Given the description of an element on the screen output the (x, y) to click on. 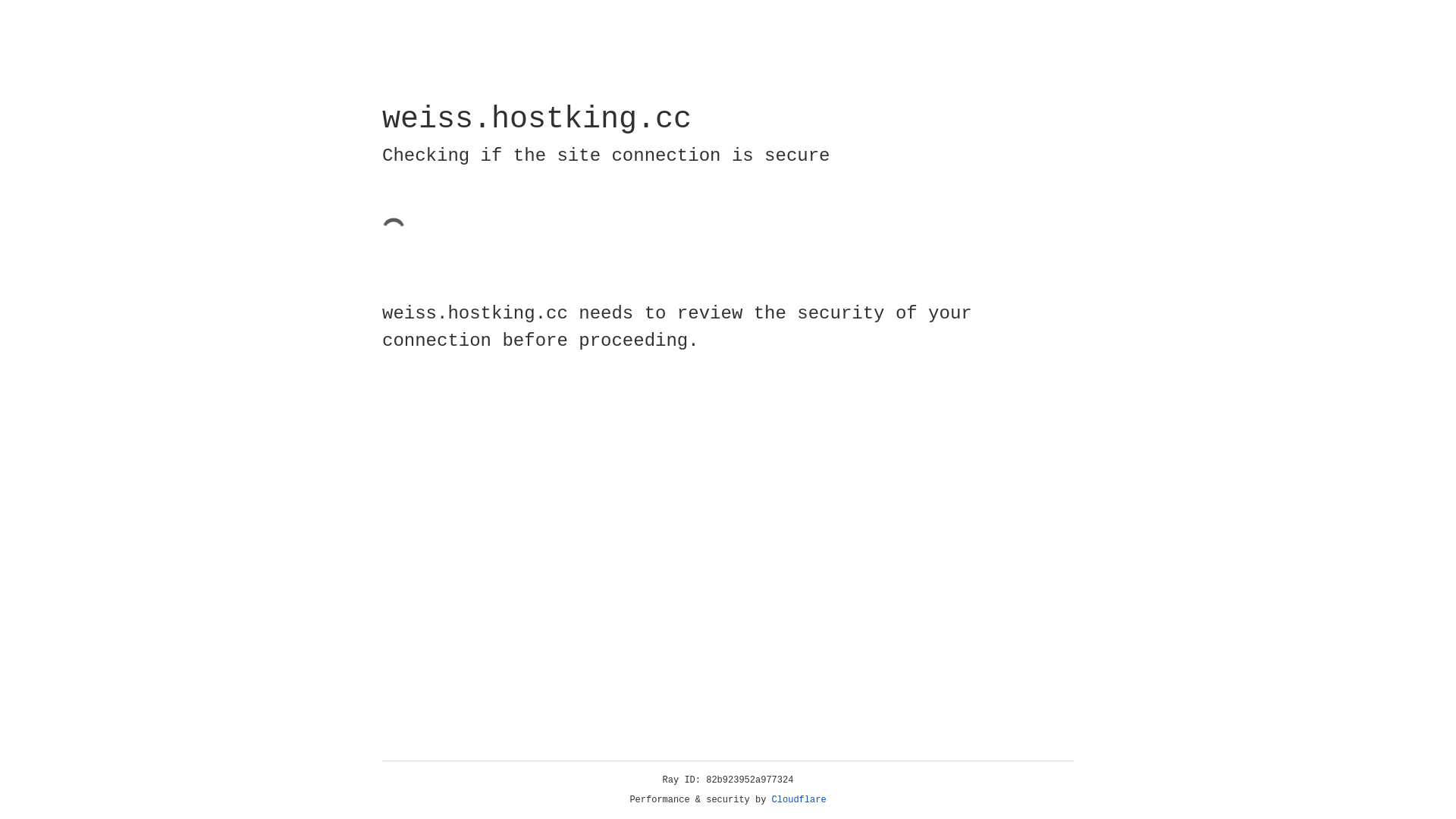
Cloudflare Element type: text (798, 799)
